Given the description of an element on the screen output the (x, y) to click on. 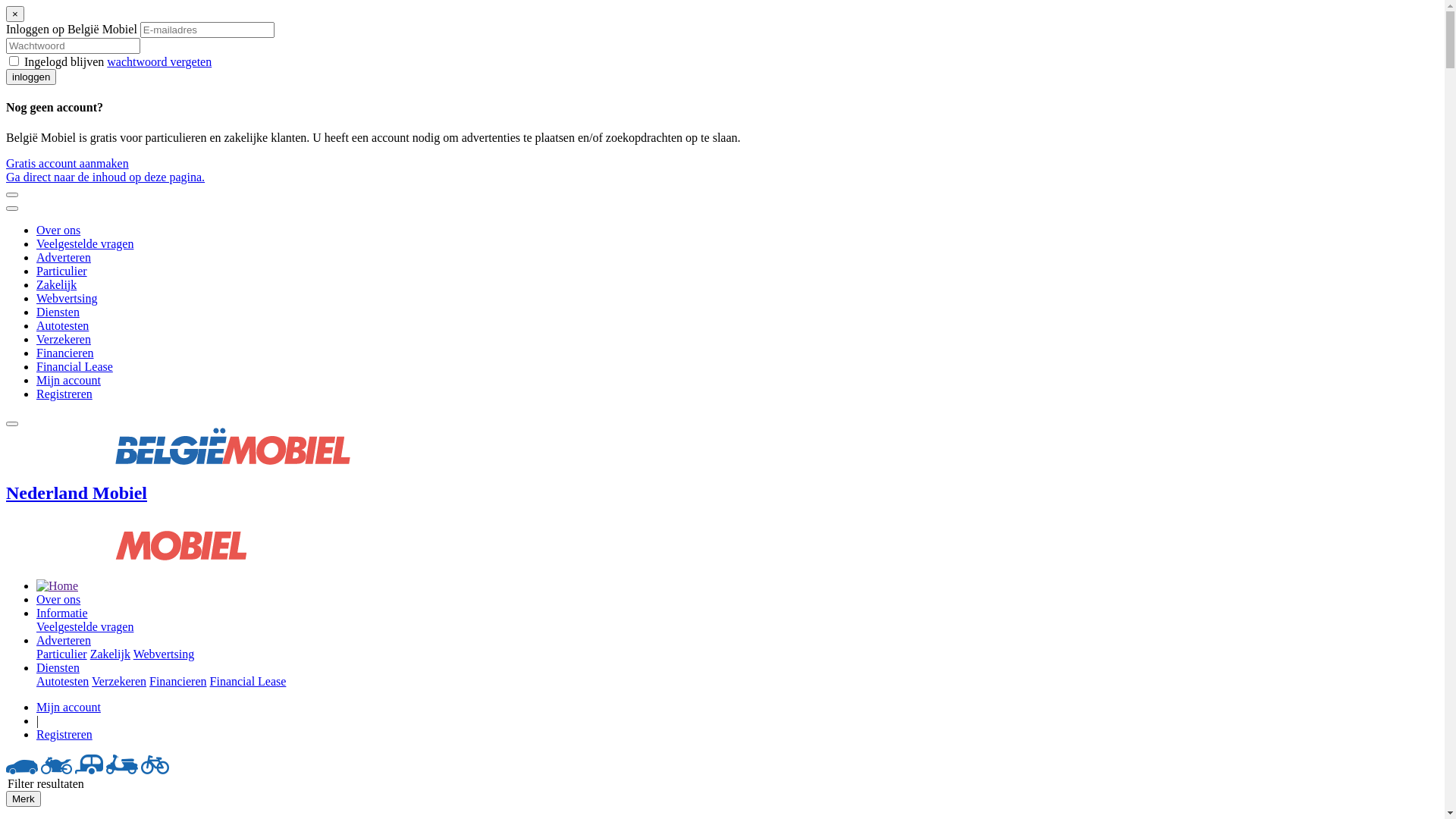
Ga direct naar de inhoud op deze pagina. Element type: text (105, 176)
wachtwoord vergeten Element type: text (158, 61)
Caravan Occasion zoeken Element type: hover (89, 769)
Diensten Element type: text (57, 311)
Veelgestelde vragen Element type: text (84, 243)
Veelgestelde vragen Element type: text (84, 626)
Adverteren Element type: text (63, 257)
Zakelijk Element type: text (56, 284)
Zakelijk Element type: text (110, 653)
Autotesten Element type: text (62, 680)
Webvertsing Element type: text (66, 297)
Verzekeren Element type: text (118, 680)
Merk Element type: text (23, 798)
Auto Occasion zoeken Element type: hover (21, 769)
Verzekeren Element type: text (63, 338)
Mijn account Element type: text (68, 706)
Informatie Element type: text (61, 612)
Webvertsing Element type: text (163, 653)
Mijn account Element type: text (68, 379)
Motor Occasion zoeken Element type: hover (56, 769)
Financial Lease Element type: text (74, 366)
Adverteren Element type: text (63, 639)
Over ons Element type: text (58, 229)
Registreren Element type: text (64, 393)
Scooter Occasion zoeken Element type: hover (122, 769)
Financial Lease Element type: text (248, 680)
Financieren Element type: text (65, 352)
Fiets Occasion zoeken Element type: hover (155, 769)
Diensten Element type: text (57, 667)
Particulier Element type: text (61, 270)
Financieren Element type: text (178, 680)
inloggen Element type: text (31, 76)
Registreren Element type: text (64, 734)
Over ons Element type: text (58, 599)
Gratis account aanmaken Element type: text (67, 162)
Nederland Mobiel Element type: text (722, 525)
Particulier Element type: text (61, 653)
Autotesten Element type: text (62, 325)
